Given the description of an element on the screen output the (x, y) to click on. 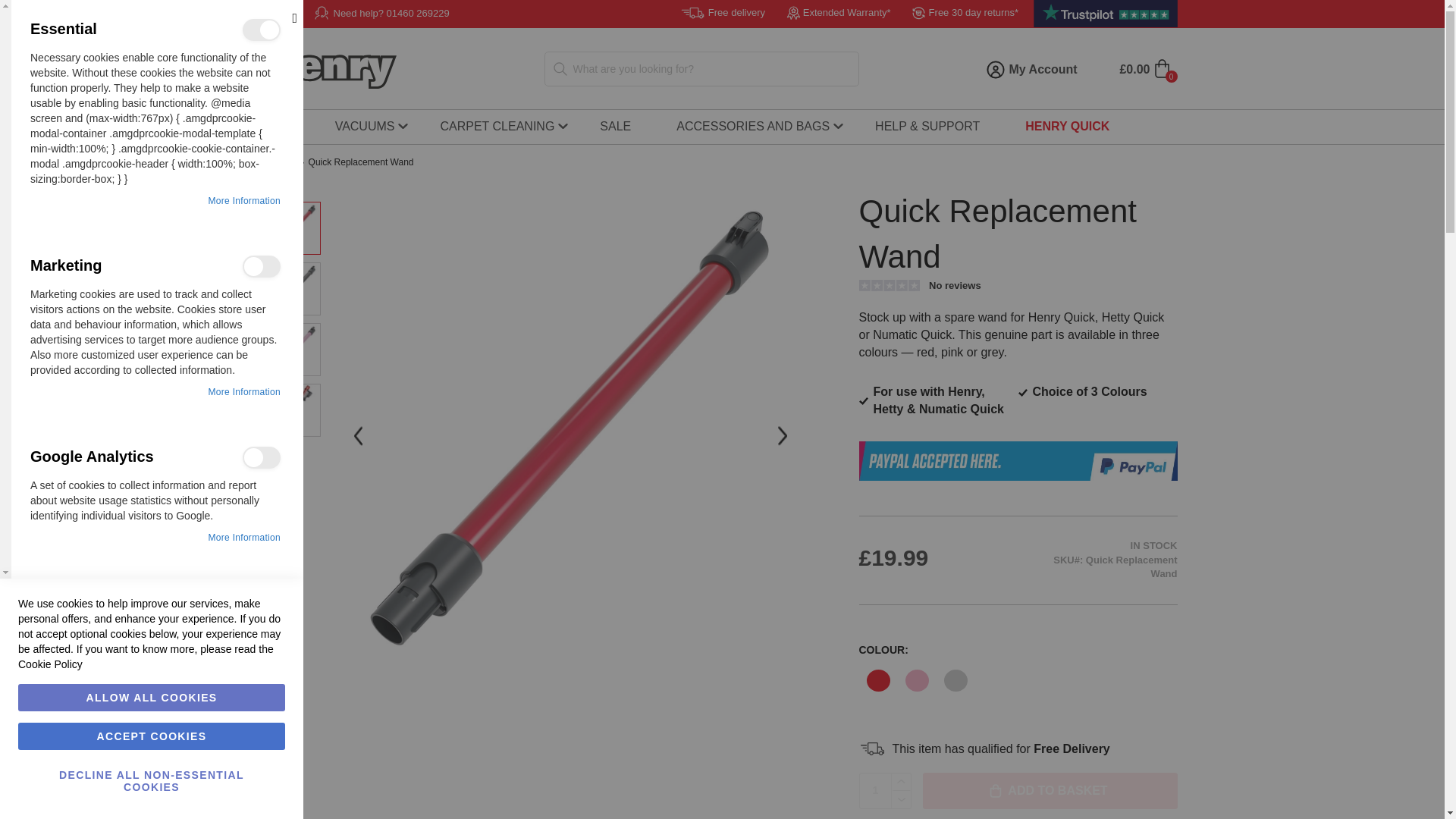
8 (270, 455)
2 (270, 28)
5 (270, 264)
